Given the description of an element on the screen output the (x, y) to click on. 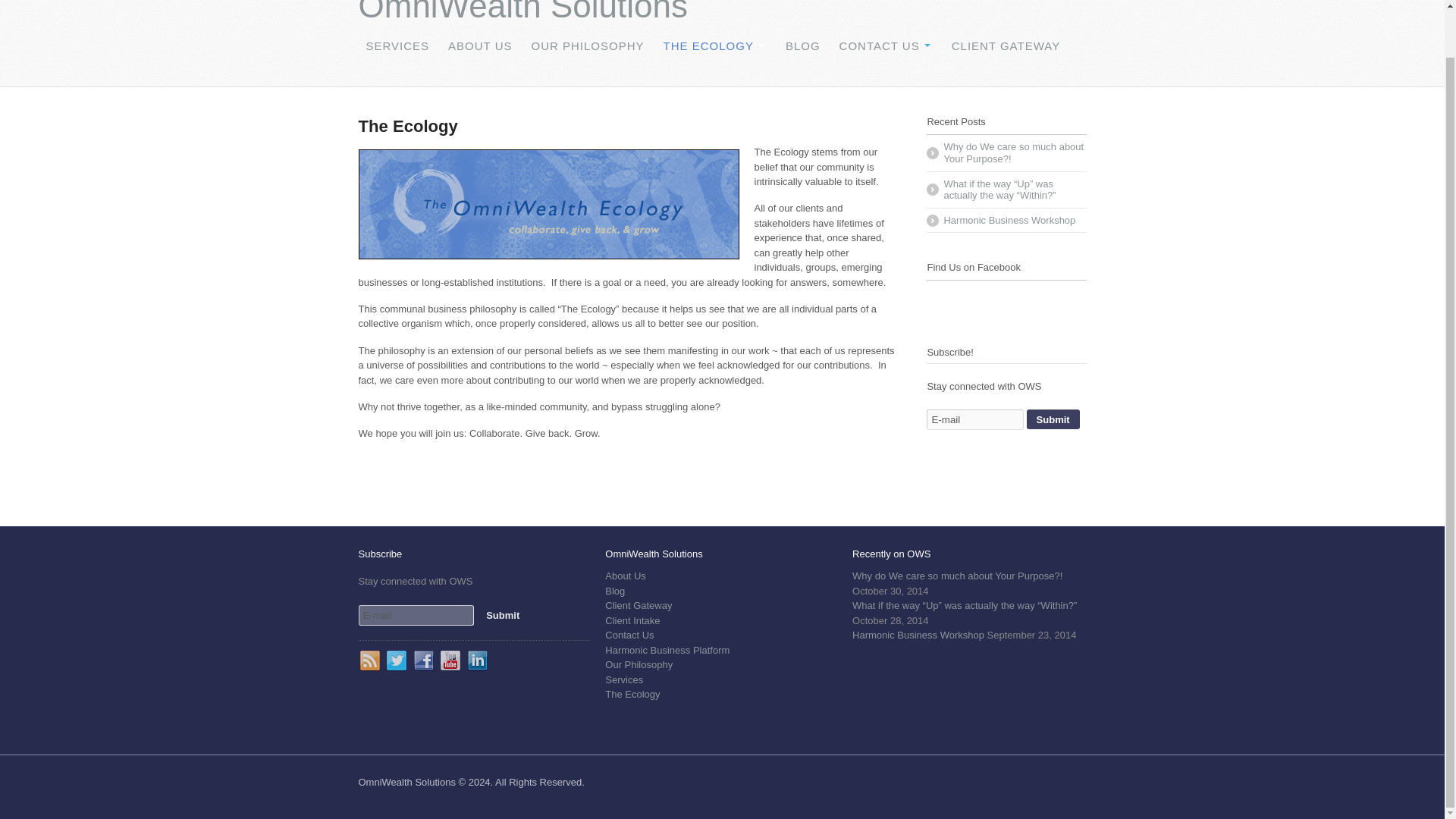
Harmonic Business Workshop (1006, 220)
Submit (1053, 419)
E-mail (974, 419)
OUR PHILOSOPHY (586, 45)
Why do We care so much about Your Purpose?! (956, 575)
ABOUT US (480, 45)
E-mail (415, 615)
SERVICES (397, 45)
OmniWealth Solutions (522, 12)
RSS (369, 660)
Facebook (424, 660)
The Ecology (632, 694)
Client Gateway (638, 604)
Contact Us (629, 634)
LinkedIn (477, 660)
